Given the description of an element on the screen output the (x, y) to click on. 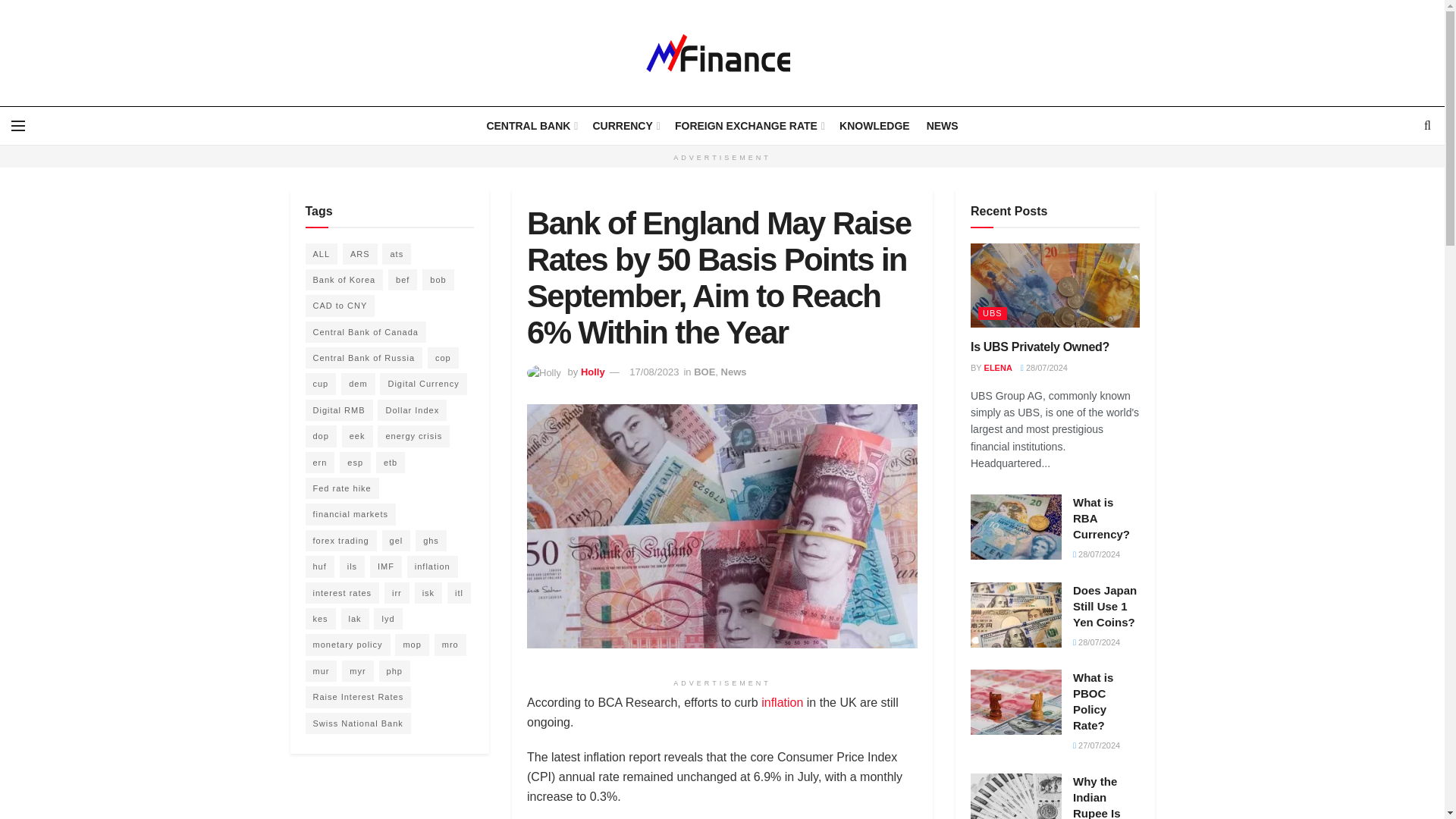
NEWS (942, 125)
CENTRAL BANK (530, 125)
CURRENCY (625, 125)
KNOWLEDGE (875, 125)
FOREIGN EXCHANGE RATE (748, 125)
